Given the description of an element on the screen output the (x, y) to click on. 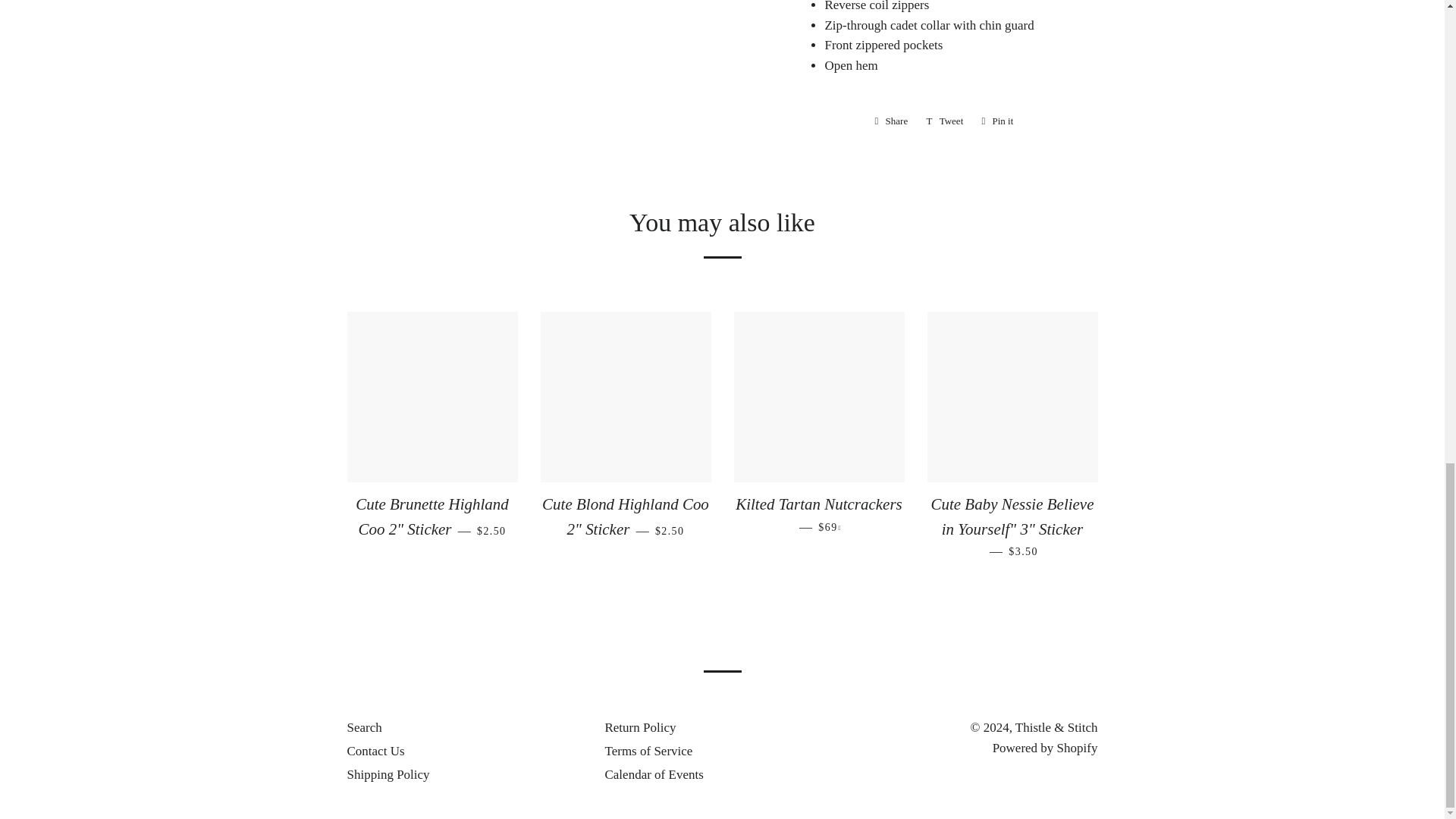
Tweet on Twitter (944, 120)
Share on Facebook (891, 120)
Pin on Pinterest (997, 120)
